Given the description of an element on the screen output the (x, y) to click on. 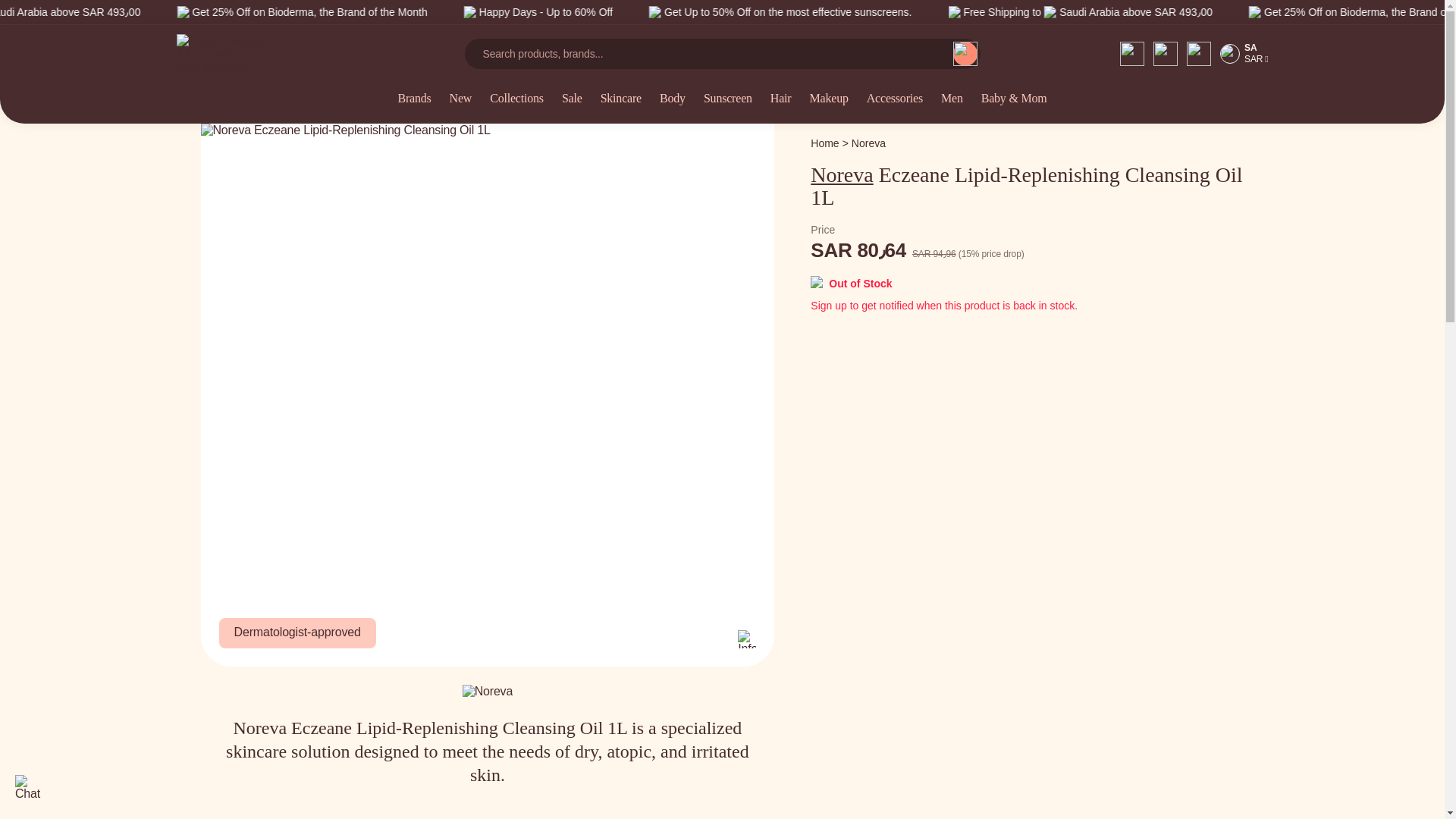
Brands (413, 107)
Go To Home Page (824, 143)
New (461, 107)
Collections (516, 107)
Noreva (868, 143)
